Given the description of an element on the screen output the (x, y) to click on. 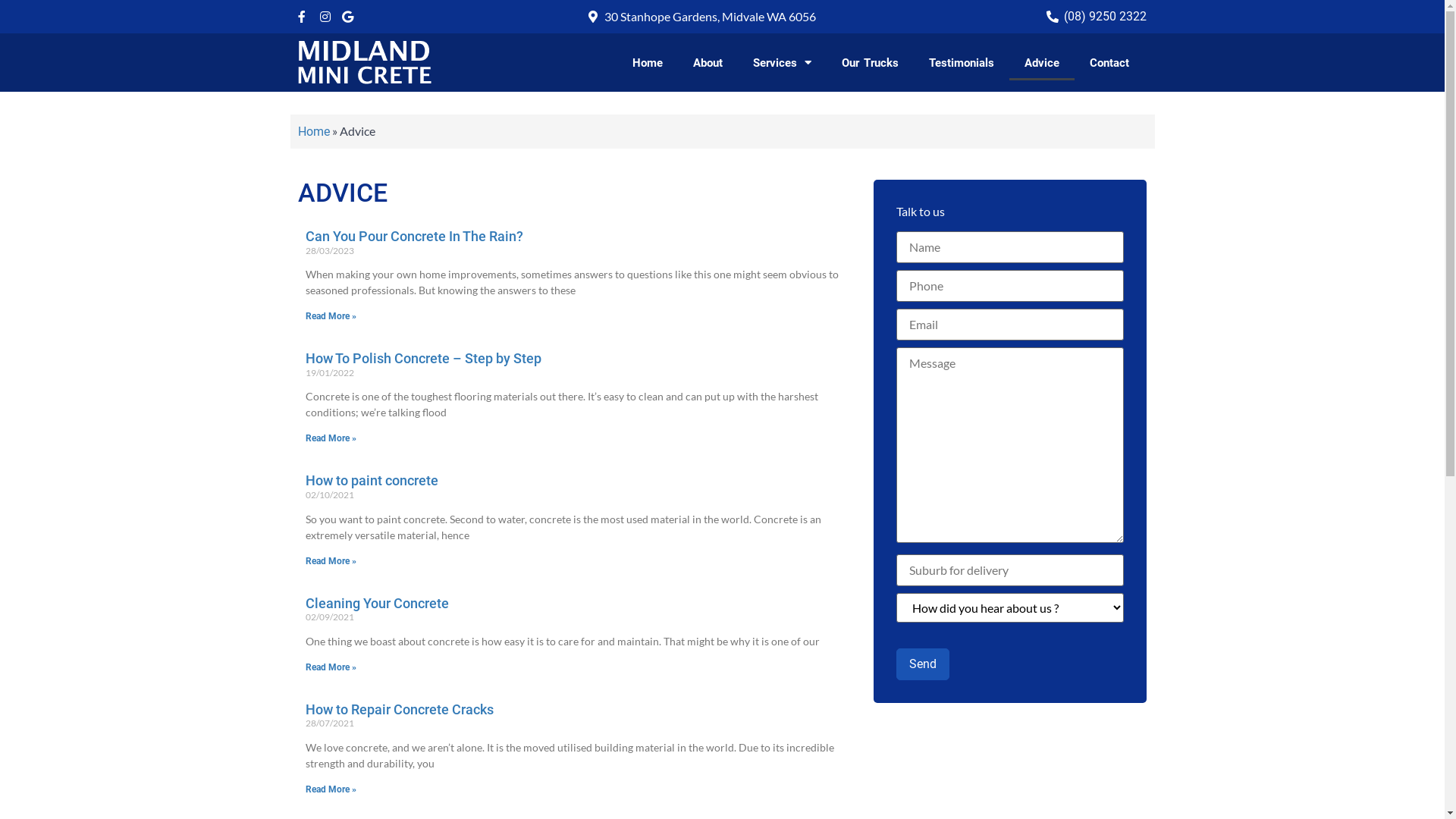
How to paint concrete Element type: text (370, 480)
Our Trucks Element type: text (869, 62)
How to Repair Concrete Cracks Element type: text (398, 709)
Testimonials Element type: text (961, 62)
Send Element type: text (922, 664)
Advice Element type: text (1041, 62)
Home Element type: text (313, 131)
(08) 9250 2322 Element type: text (1095, 16)
Cleaning Your Concrete Element type: text (376, 603)
Contact Element type: text (1109, 62)
About Element type: text (707, 62)
Home Element type: text (647, 62)
Can You Pour Concrete In The Rain? Element type: text (413, 236)
Services Element type: text (781, 62)
